Given the description of an element on the screen output the (x, y) to click on. 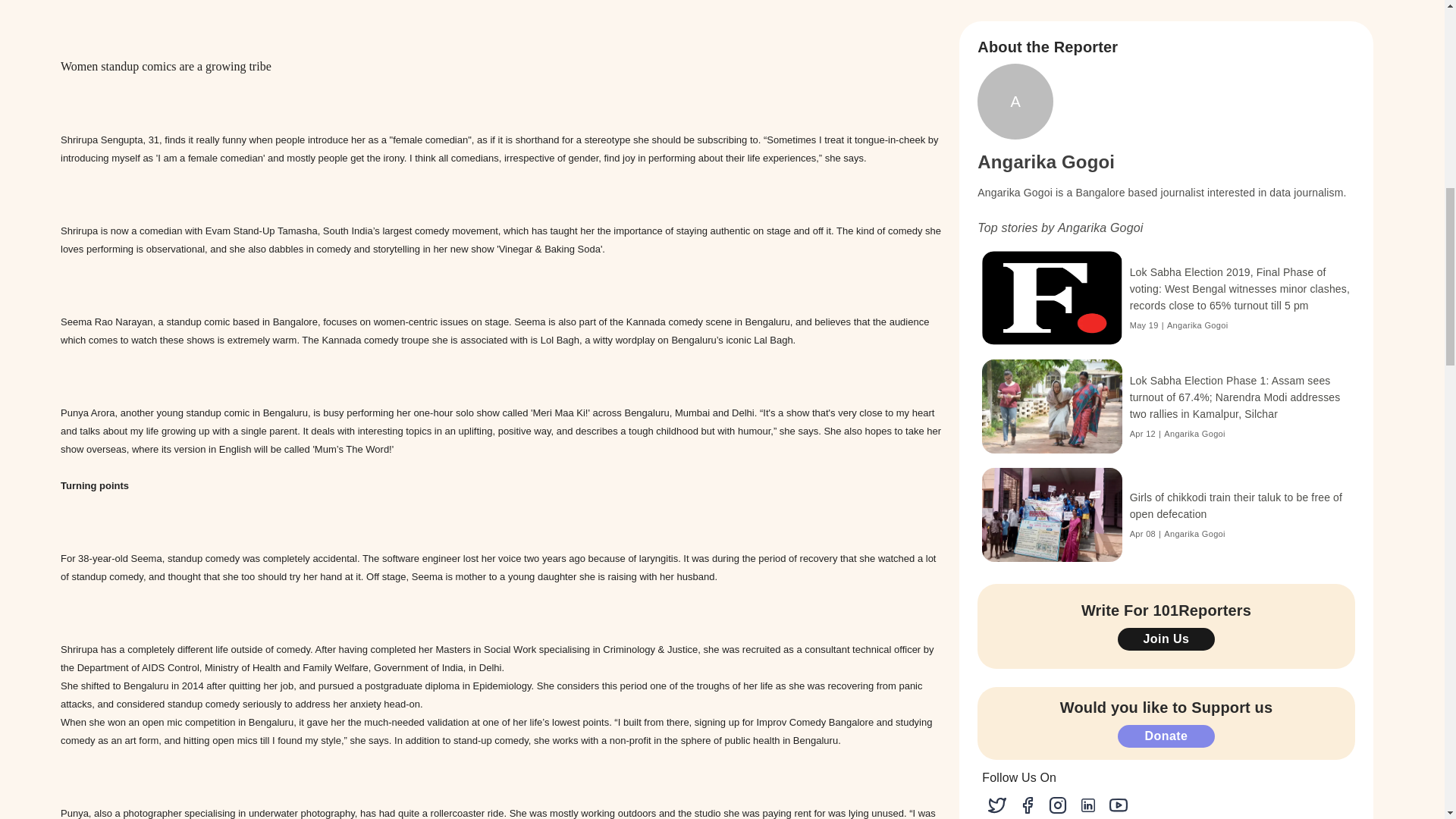
Donate (1166, 735)
Join Us (1166, 639)
